Given the description of an element on the screen output the (x, y) to click on. 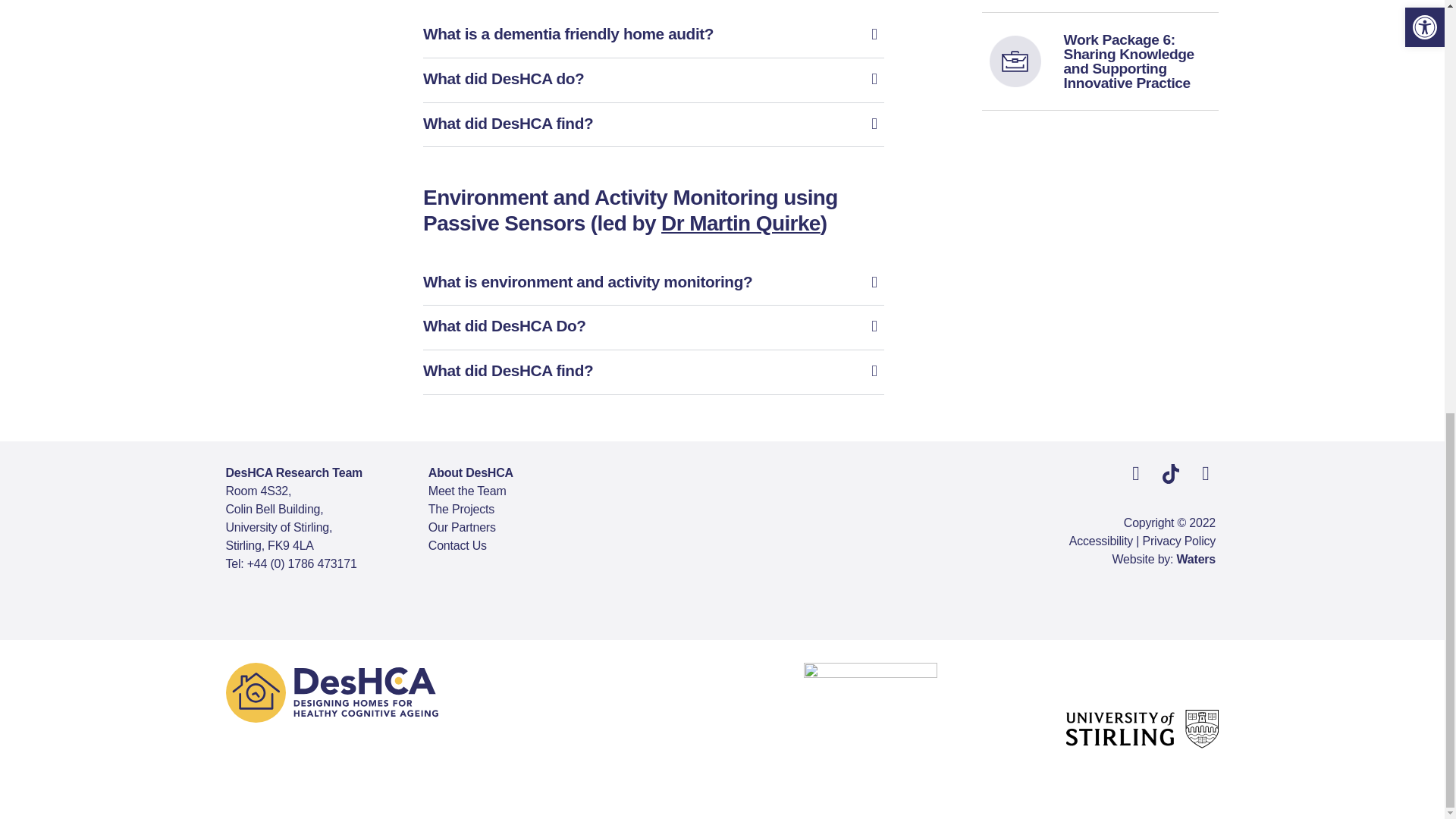
University of Stirling (1141, 729)
UK Research and Innovation (870, 729)
